Given the description of an element on the screen output the (x, y) to click on. 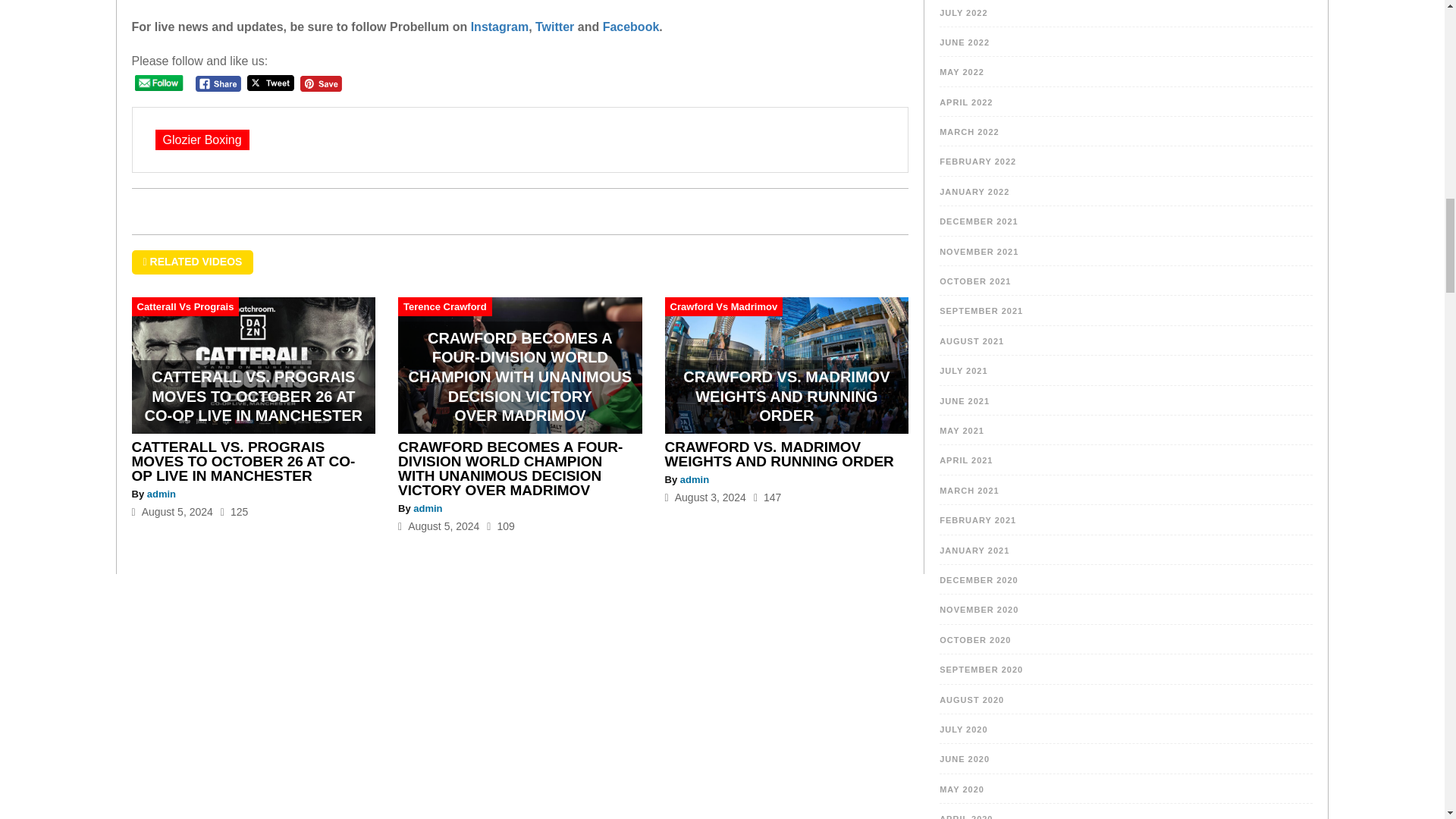
admin (427, 508)
Pin Share (320, 83)
Tweet (270, 82)
Instagram (499, 26)
Twitter  (556, 26)
Posts by admin (161, 493)
Visits (767, 497)
Posts by admin (427, 508)
Facebook Share (218, 83)
